Given the description of an element on the screen output the (x, y) to click on. 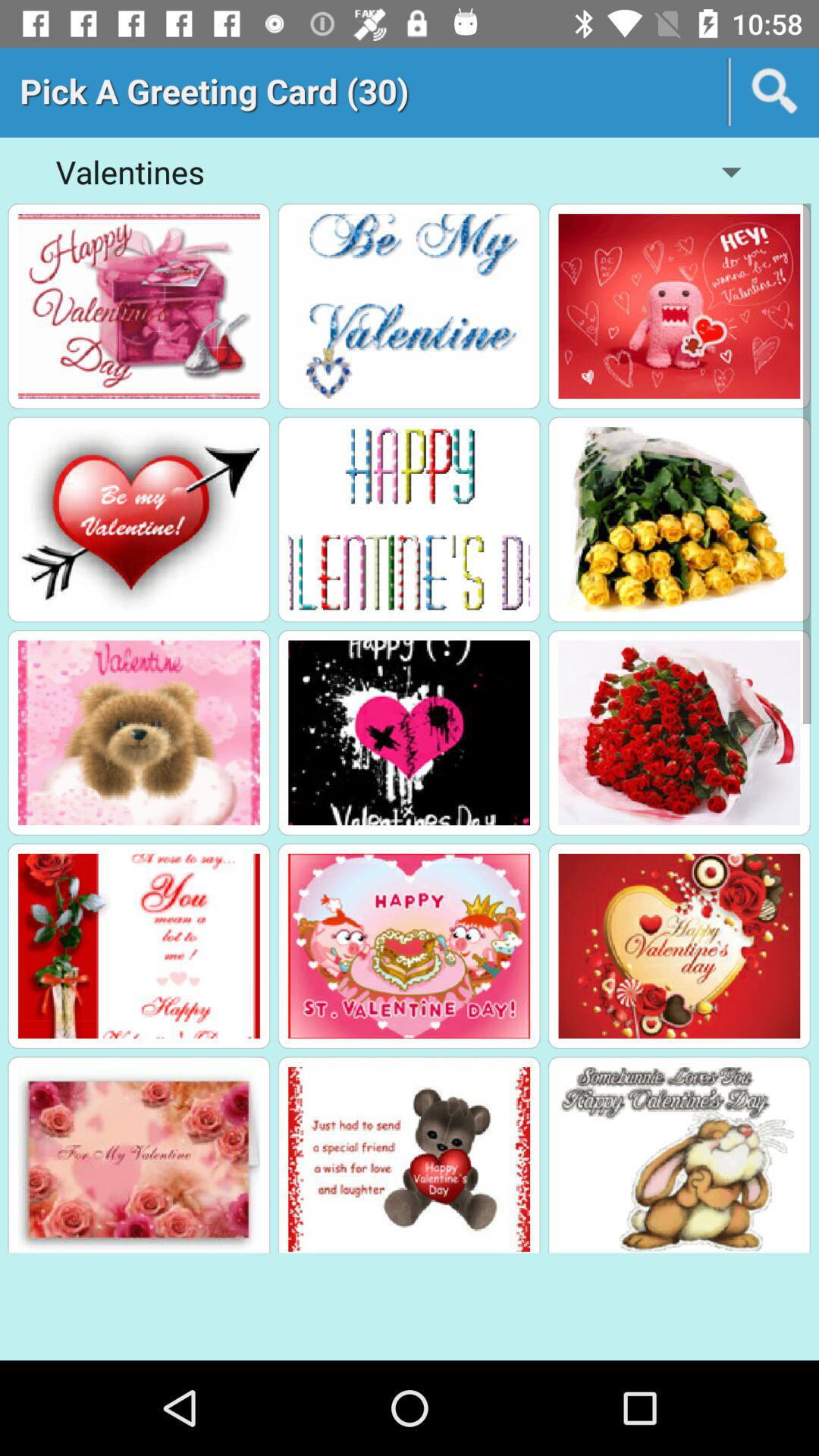
to more like that (409, 519)
